Given the description of an element on the screen output the (x, y) to click on. 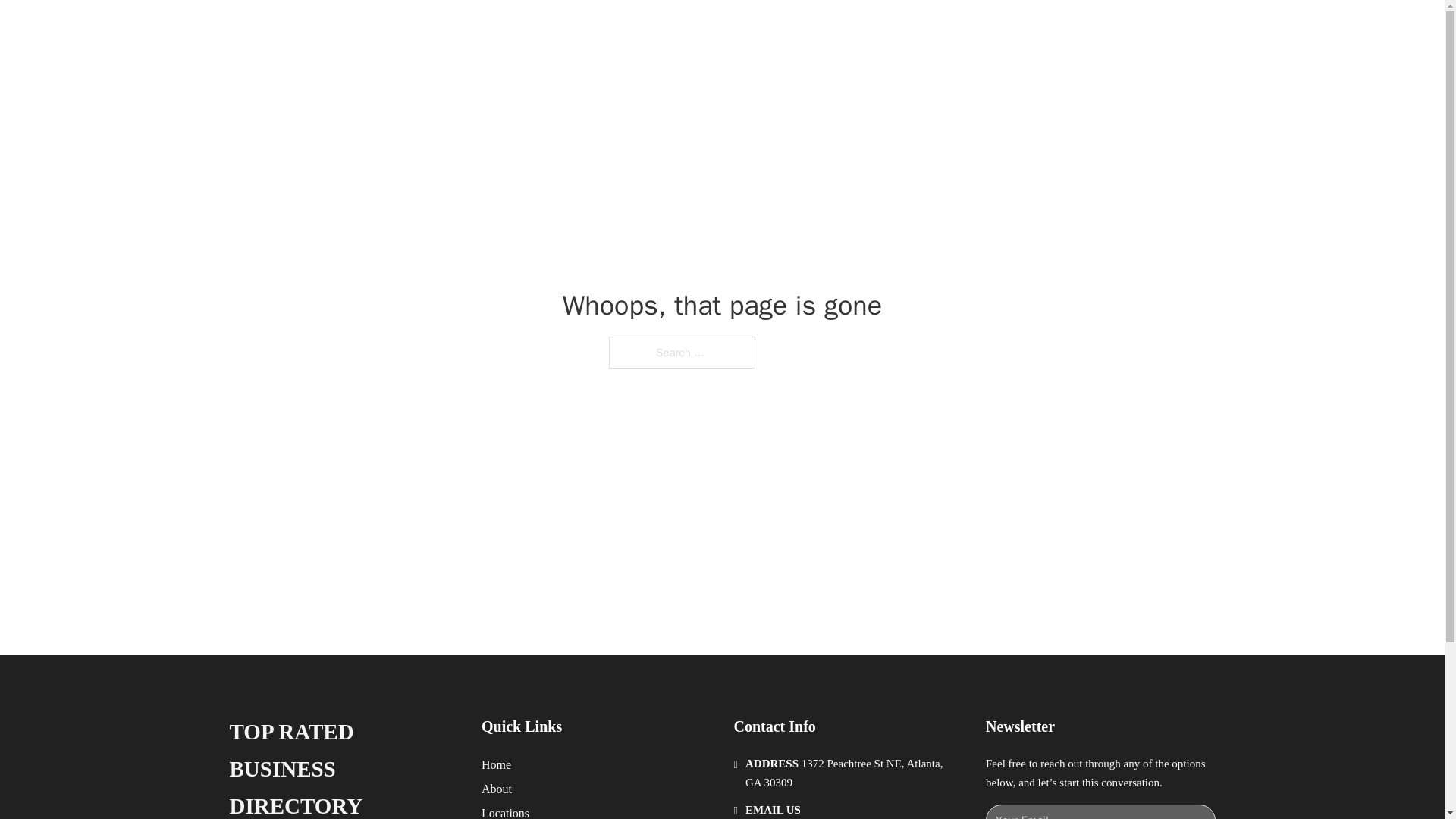
TOP RATED BUSINESS DIRECTORY (343, 766)
About (496, 788)
LOCATIONS (990, 29)
Locations (505, 811)
TOP RATED BUSINESS DIRECTORY (475, 28)
Home (496, 764)
HOME (919, 29)
